Given the description of an element on the screen output the (x, y) to click on. 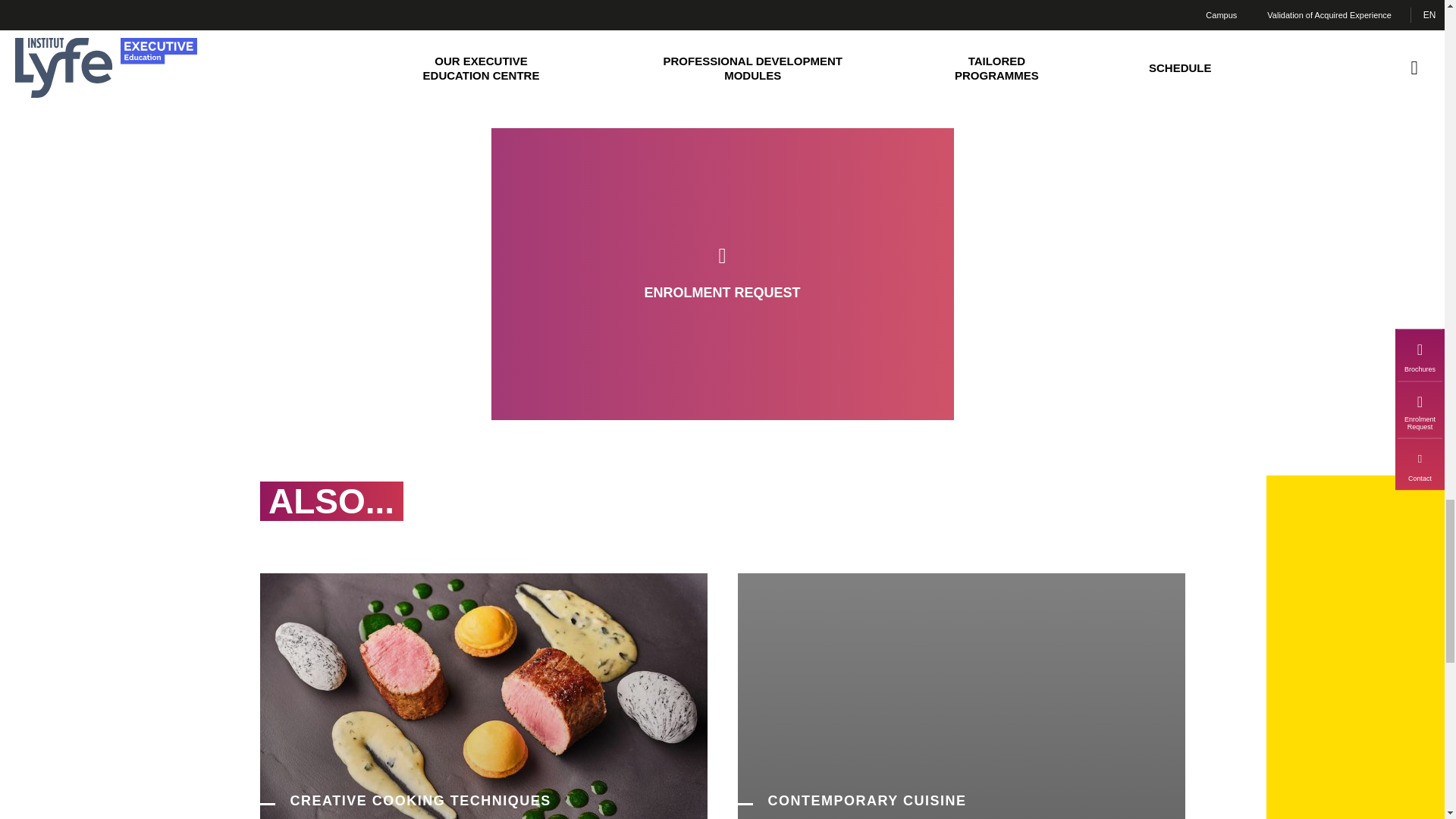
Contemporary Cuisine (960, 801)
CREATIVE COOKING TECHNIQUES (482, 801)
CONTEMPORARY CUISINE (960, 801)
Creative Cooking Techniques (482, 801)
